Given the description of an element on the screen output the (x, y) to click on. 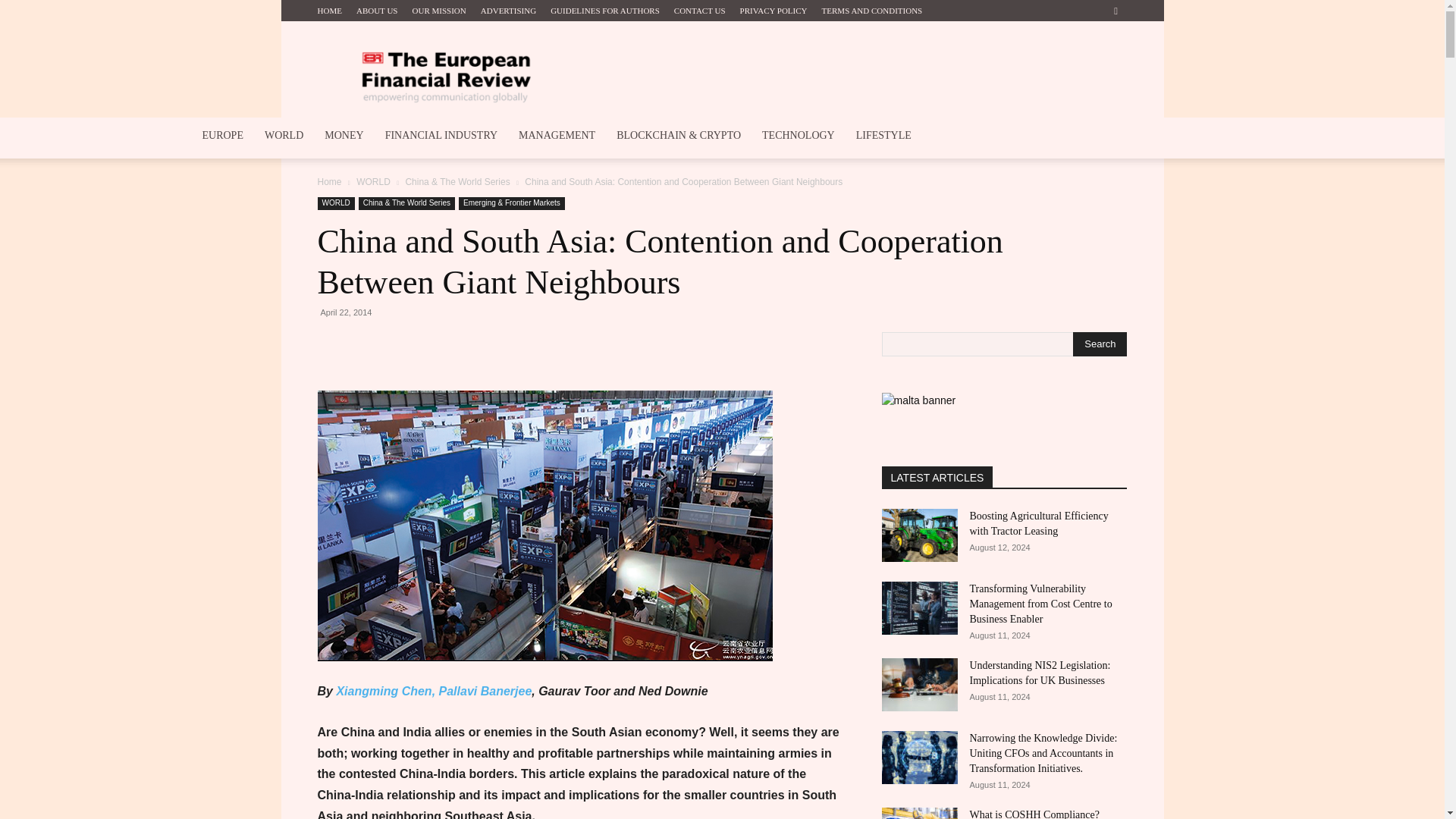
Search (1099, 344)
photo1-1 (544, 525)
View all posts in WORLD (373, 181)
